Given the description of an element on the screen output the (x, y) to click on. 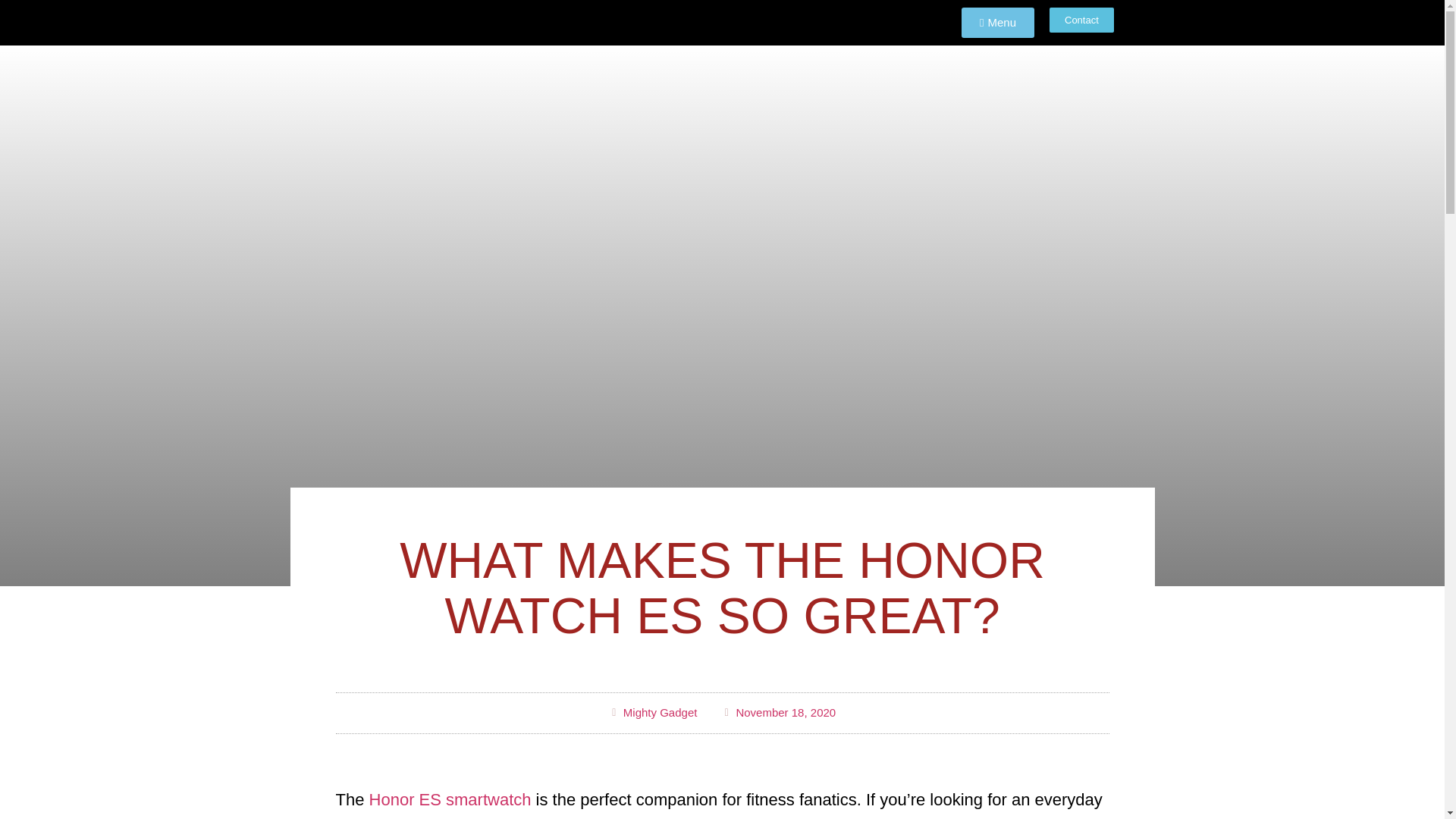
Contact (1081, 19)
Mighty Gadget (652, 712)
November 18, 2020 (777, 712)
Honor ES smartwatch (450, 799)
Menu (996, 22)
